Given the description of an element on the screen output the (x, y) to click on. 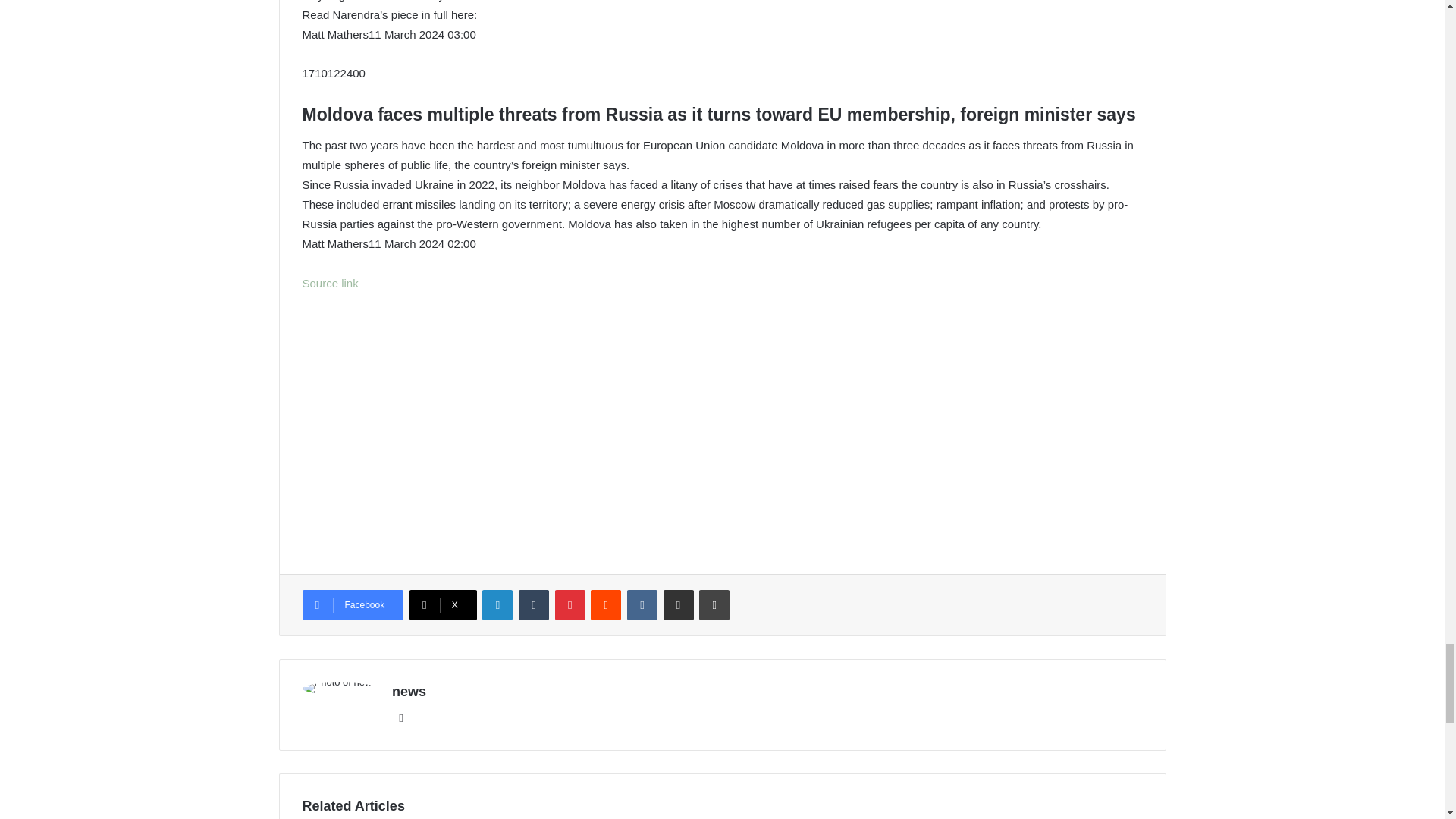
VKontakte (642, 604)
Website (400, 718)
Tumblr (533, 604)
Reddit (606, 604)
news (408, 691)
X (443, 604)
Share via Email (678, 604)
LinkedIn (496, 604)
Facebook (352, 604)
Pinterest (569, 604)
